Given the description of an element on the screen output the (x, y) to click on. 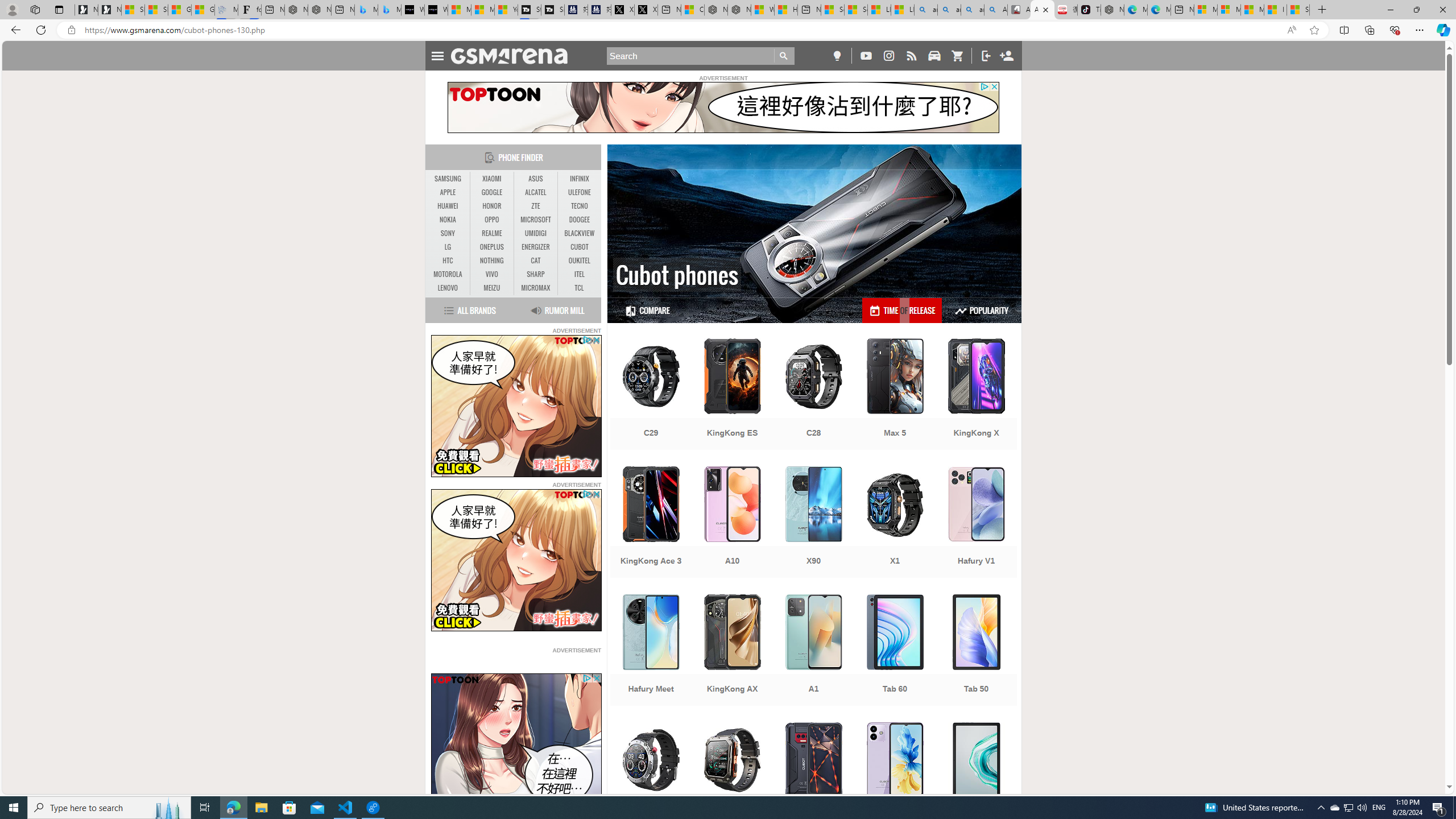
ASUS (535, 178)
Tab 60 (895, 651)
BLACKVIEW (579, 233)
To get missing image descriptions, open the context menu. (515, 744)
MICROMAX (535, 287)
LG (448, 246)
